Given the description of an element on the screen output the (x, y) to click on. 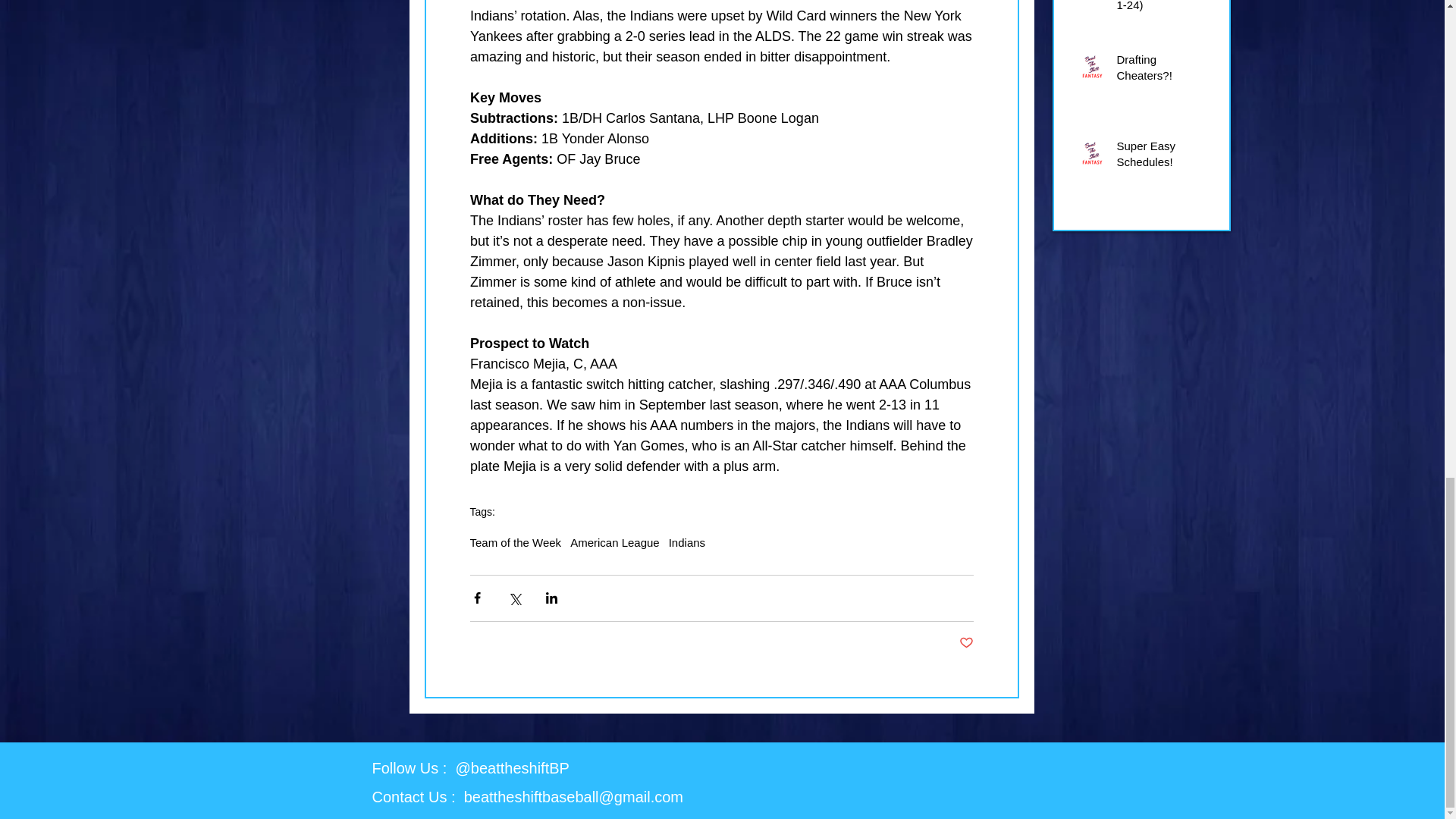
American League (614, 542)
Drafting Cheaters?! (1162, 70)
Post not marked as liked (965, 643)
Indians (686, 542)
Super Easy Schedules! (1162, 157)
Team of the Week (516, 542)
